Given the description of an element on the screen output the (x, y) to click on. 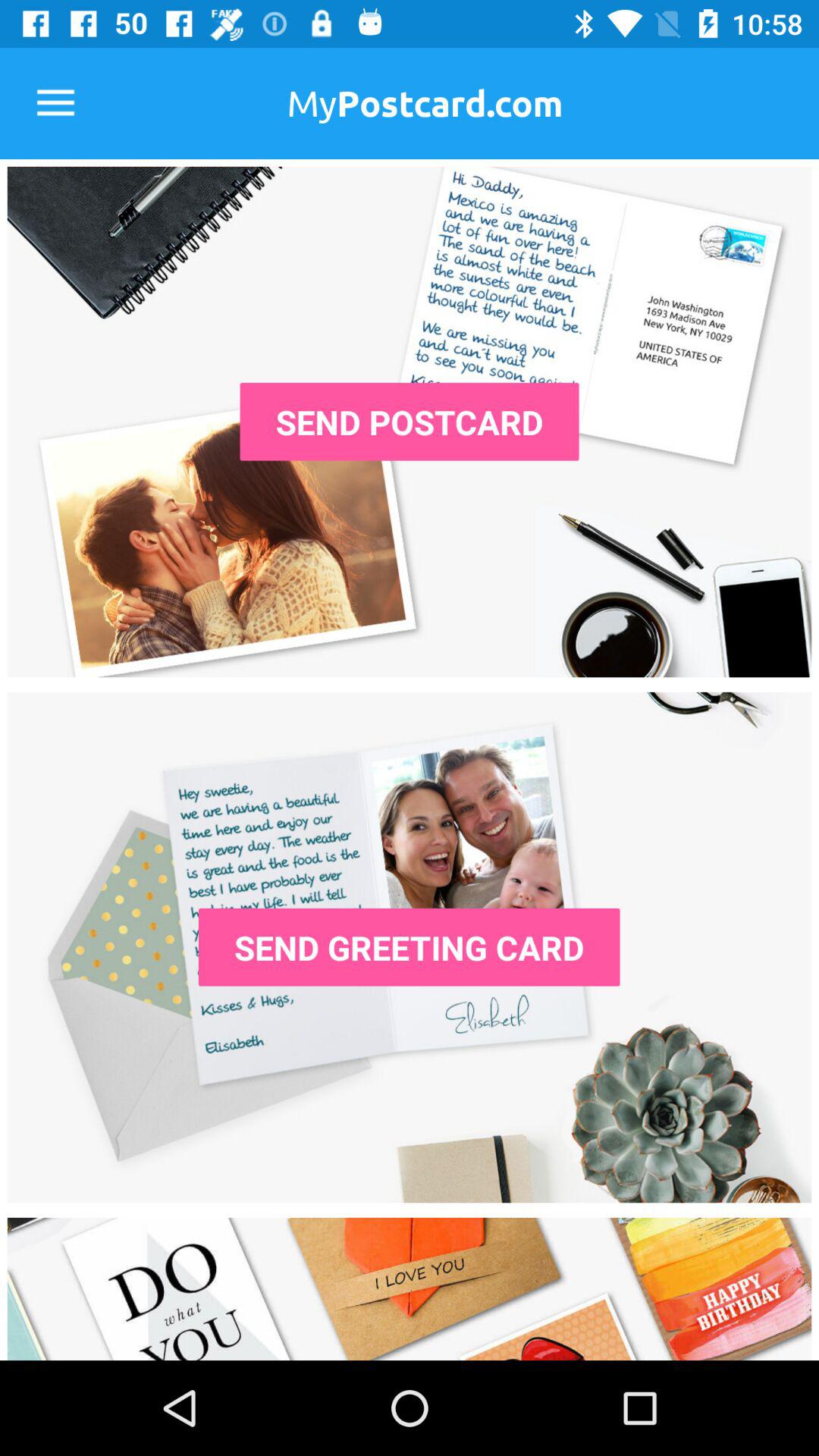
choose the item below the mypostcard.com item (409, 421)
